Given the description of an element on the screen output the (x, y) to click on. 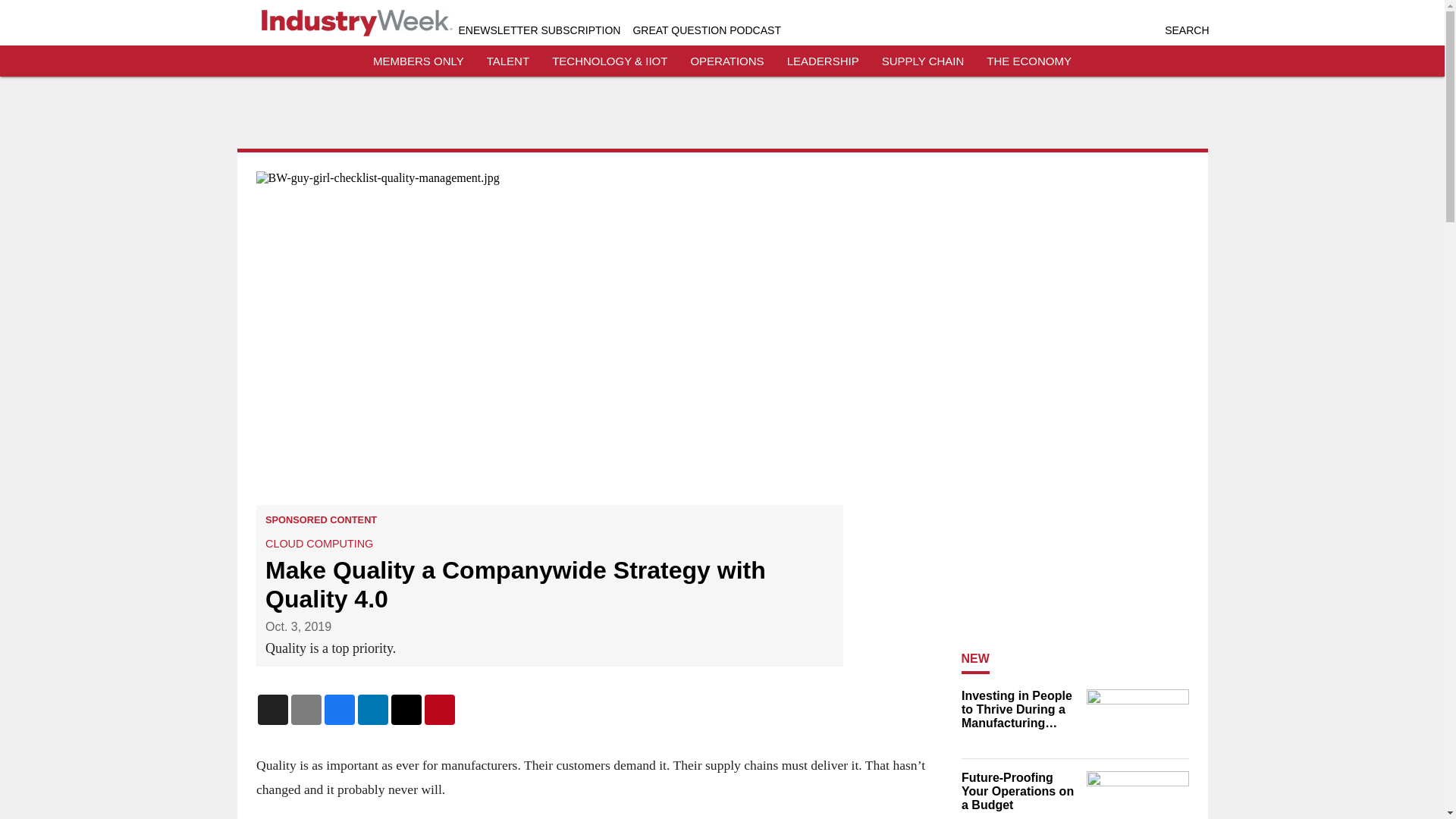
Future-Proofing Your Operations on a Budget (1019, 791)
SEARCH (1186, 30)
LEADERSHIP (823, 60)
OPERATIONS (726, 60)
CLOUD COMPUTING (318, 543)
SUPPLY CHAIN (922, 60)
MEMBERS ONLY (418, 60)
ENEWSLETTER SUBSCRIPTION (539, 30)
GREAT QUESTION PODCAST (705, 30)
TALENT (507, 60)
THE ECONOMY (1029, 60)
